Given the description of an element on the screen output the (x, y) to click on. 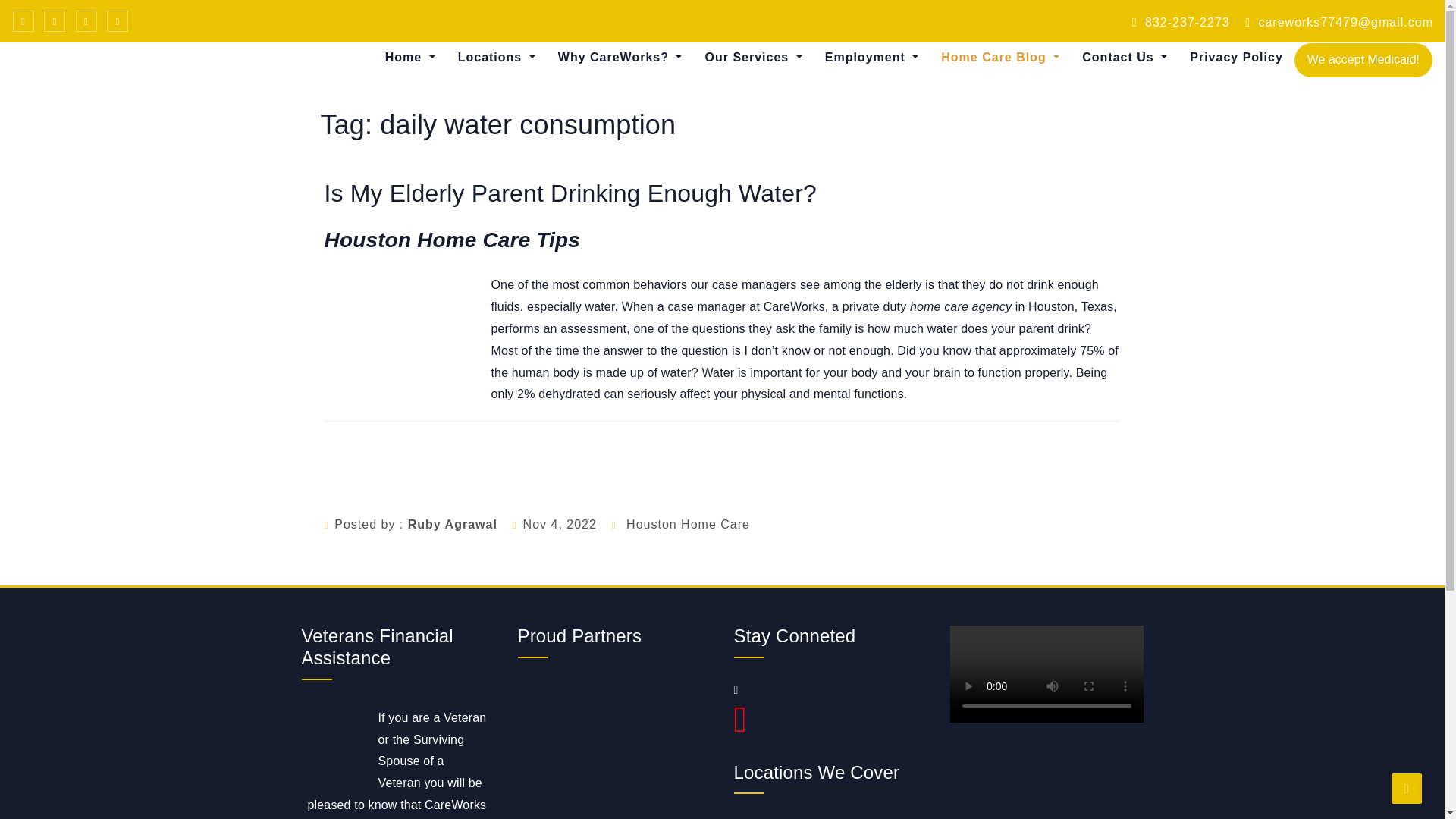
Why CareWorks? (620, 57)
Testimonials (618, 95)
Our Services (752, 57)
Employment (871, 57)
Open Positions (885, 95)
About Us (446, 95)
Our Services (752, 57)
Home Care Blog (1000, 57)
832-237-2273 (1181, 21)
Testimonials (618, 95)
